Given the description of an element on the screen output the (x, y) to click on. 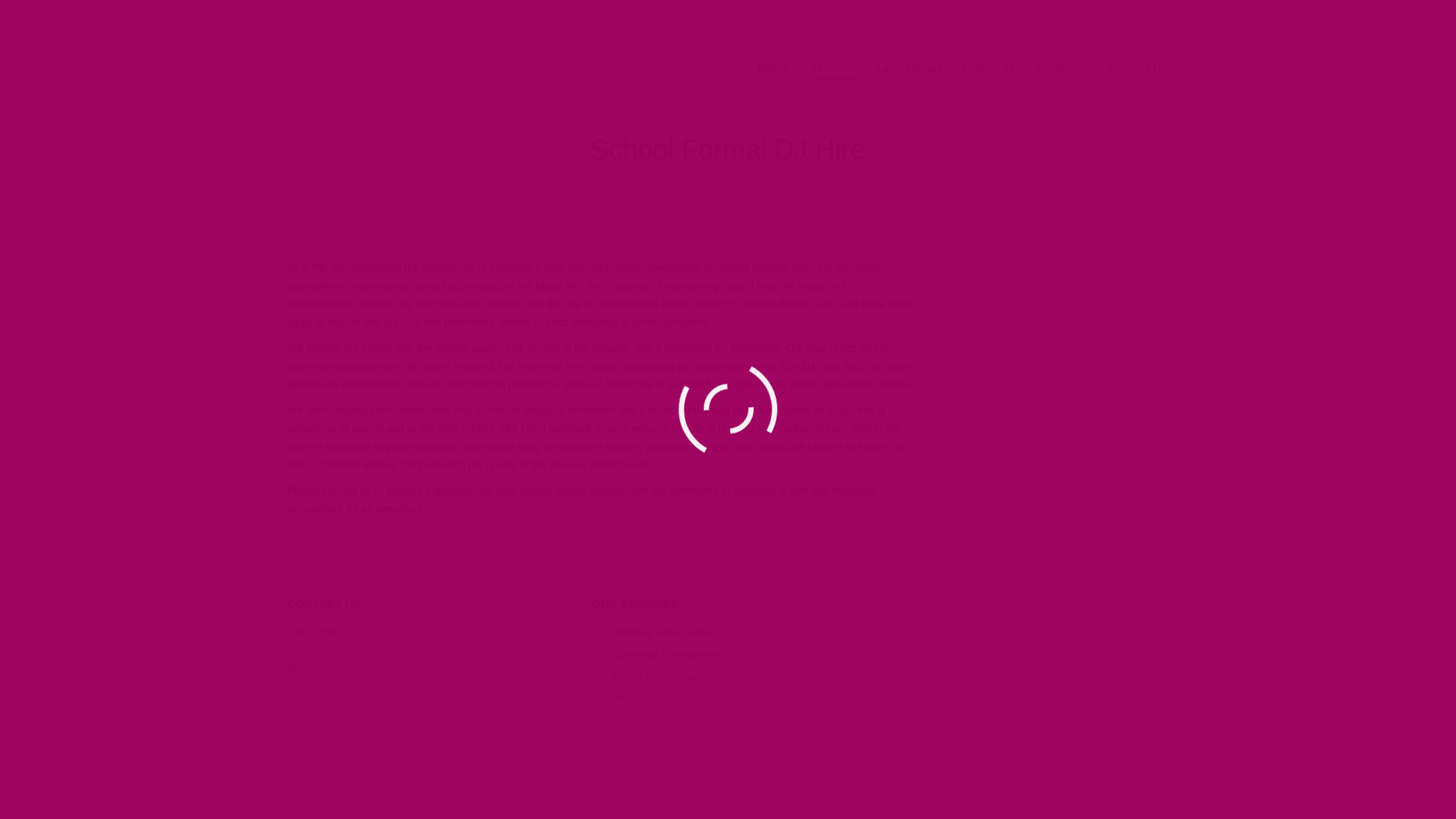
JLPE Privacy Policy Element type: text (1034, 772)
Terms Element type: text (1155, 788)
Contact Us Element type: text (1145, 772)
Contact Us Element type: text (1137, 68)
Services Element type: text (833, 68)
Home Element type: text (773, 68)
Latest News Element type: text (909, 68)
Wedding Entertainment Element type: text (656, 632)
Sitemap Element type: text (1099, 772)
Follow us on Facebook Element type: text (1024, 68)
Top Notch I.T Element type: text (1141, 804)
Master of Ceremonies Element type: text (653, 676)
Home Element type: text (670, 182)
Corporate Entertainment Element type: text (659, 654)
Photobooth Hire Element type: text (639, 698)
